Given the description of an element on the screen output the (x, y) to click on. 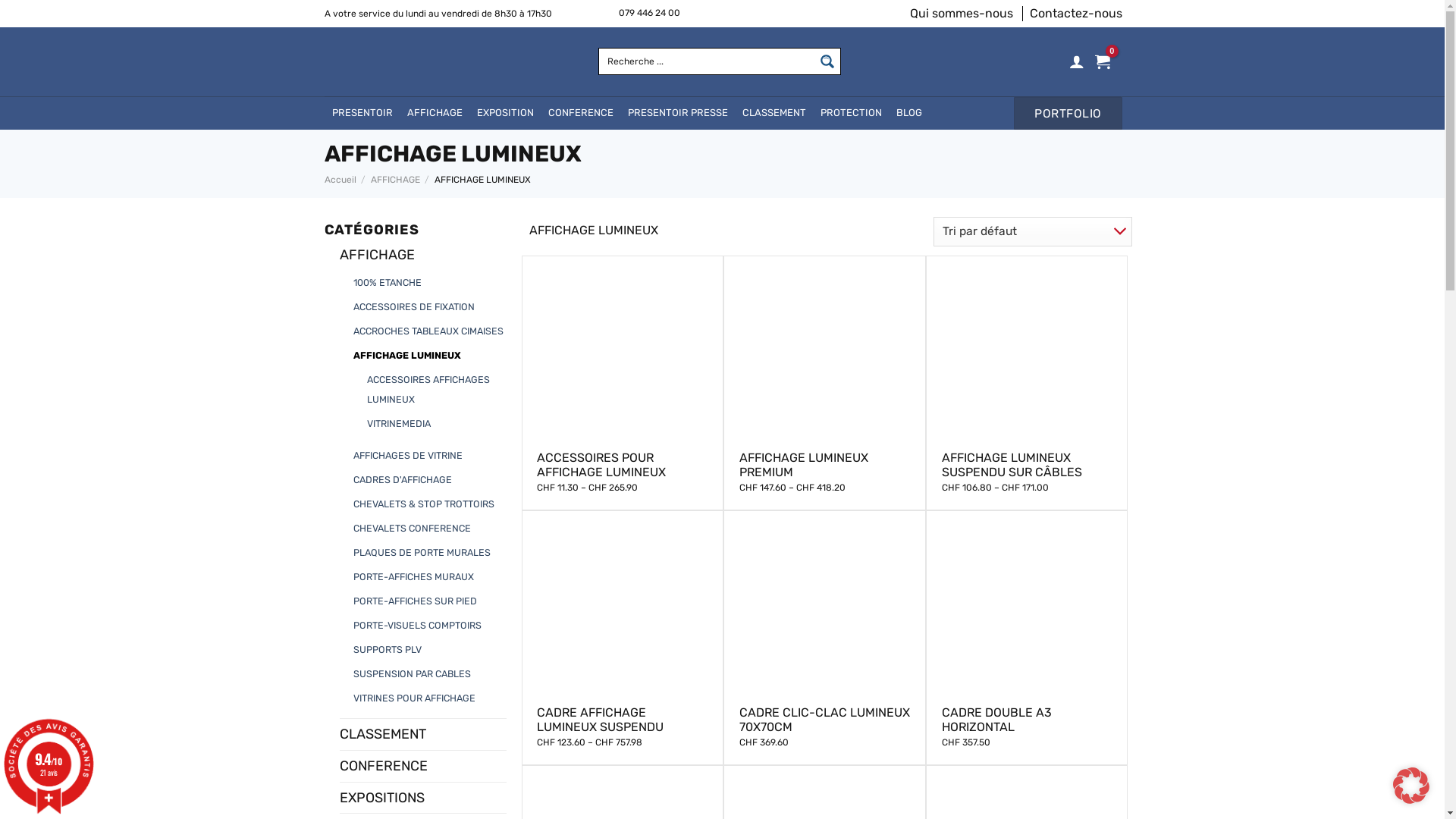
CHEVALETS & STOP TROTTOIRS Element type: text (423, 504)
ACCESSOIRES POUR AFFICHAGE LUMINEUX Element type: text (621, 464)
CHEVALETS CONFERENCE Element type: text (411, 528)
CADRES D'AFFICHAGE Element type: text (402, 479)
PORTE-VISUELS COMPTOIRS Element type: text (417, 625)
ACCROCHES TABLEAUX CIMAISES Element type: text (428, 331)
Accueil Element type: text (340, 179)
SUPPORTS PLV Element type: text (387, 649)
CONFERENCE Element type: text (578, 112)
CADRE CLIC-CLAC LUMINEUX 70X70CM Element type: text (824, 719)
PORTE-AFFICHES MURAUX Element type: text (413, 576)
CADRE AFFICHAGE LUMINEUX SUSPENDU Element type: text (621, 719)
Contactez-nous Element type: text (1075, 13)
PRESENTOIR Element type: text (361, 112)
CLASSEMENT Element type: text (772, 112)
PRESENTOIR PRESSE Element type: text (677, 112)
100% ETANCHE Element type: text (387, 282)
CADRE DOUBLE A3 HORIZONTAL Element type: text (1026, 719)
ACCESSOIRES AFFICHAGES LUMINEUX Element type: text (437, 389)
CONFERENCE Element type: text (422, 765)
Aller au contenu Element type: text (0, 0)
PLAQUES DE PORTE MURALES Element type: text (421, 552)
Panier Element type: hover (1102, 61)
EXPOSITIONS Element type: text (422, 797)
ACCESSOIRES DE FIXATION Element type: text (413, 306)
BLOG Element type: text (908, 112)
AFFICHAGE Element type: text (432, 112)
PORTE-AFFICHES SUR PIED Element type: text (414, 601)
SUSPENSION PAR CABLES Element type: text (411, 674)
AFFICHAGE LUMINEUX PREMIUM Element type: text (824, 464)
PORTFOLIO Element type: text (1067, 113)
AFFICHAGE Element type: text (395, 179)
PROTECTION Element type: text (850, 112)
VITRINEMEDIA Element type: text (398, 423)
AFFICHAGE Element type: text (422, 254)
Qui sommes-nous Element type: text (961, 13)
AFFICHAGES DE VITRINE Element type: text (407, 455)
079 446 24 00 Element type: text (649, 13)
CLASSEMENT Element type: text (422, 733)
VITRINES POUR AFFICHAGE Element type: text (414, 698)
EXPOSITION Element type: text (503, 112)
AFFICHAGE LUMINEUX Element type: text (407, 355)
